Given the description of an element on the screen output the (x, y) to click on. 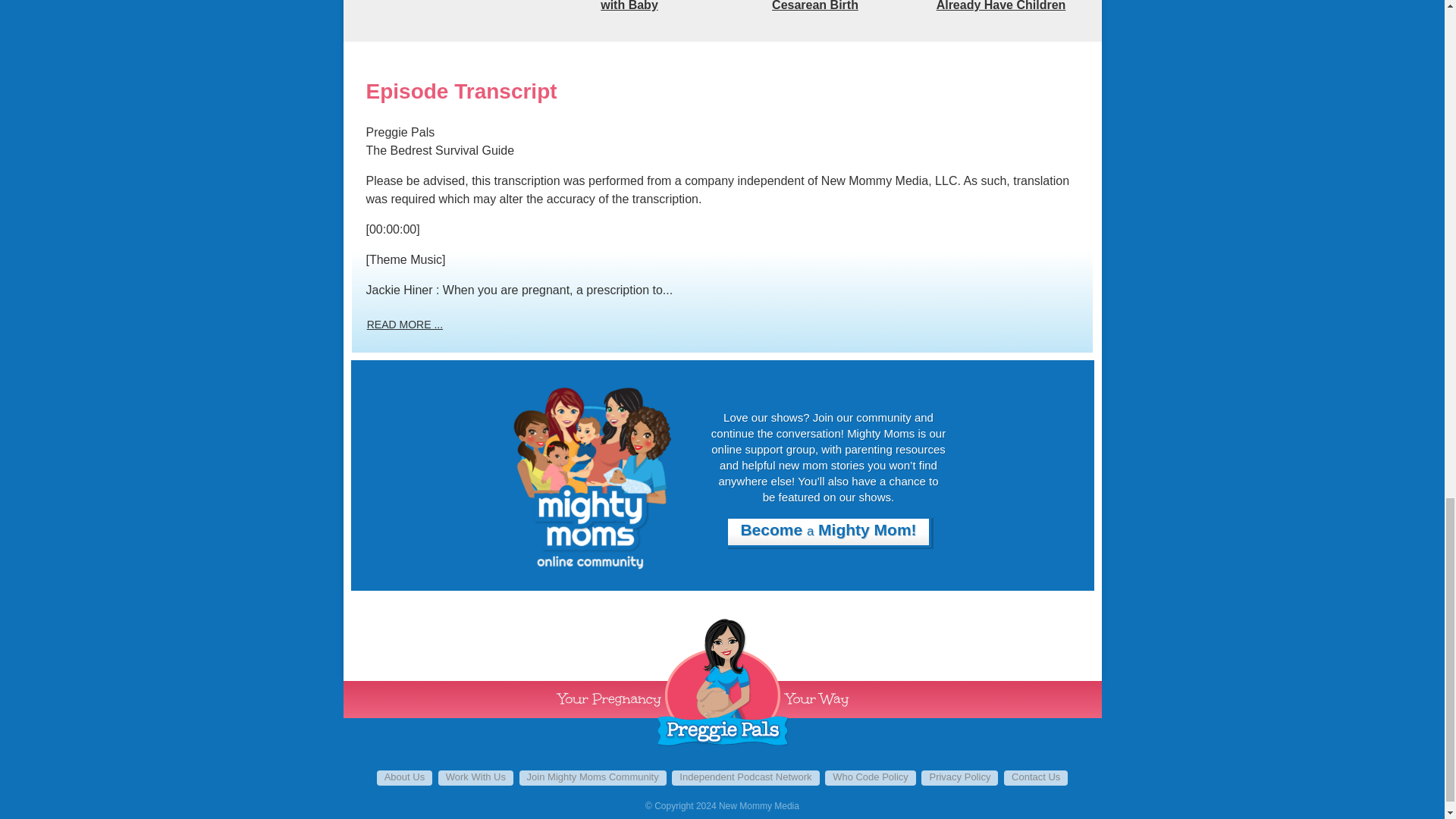
Preparing For Your Twin Cesarean Birth (815, 5)
Sleeping Tips for Traveling with Baby (628, 5)
Sleeping Tips for Traveling with Baby (628, 5)
Pregnancy When You Already Have Children (1000, 5)
